Given the description of an element on the screen output the (x, y) to click on. 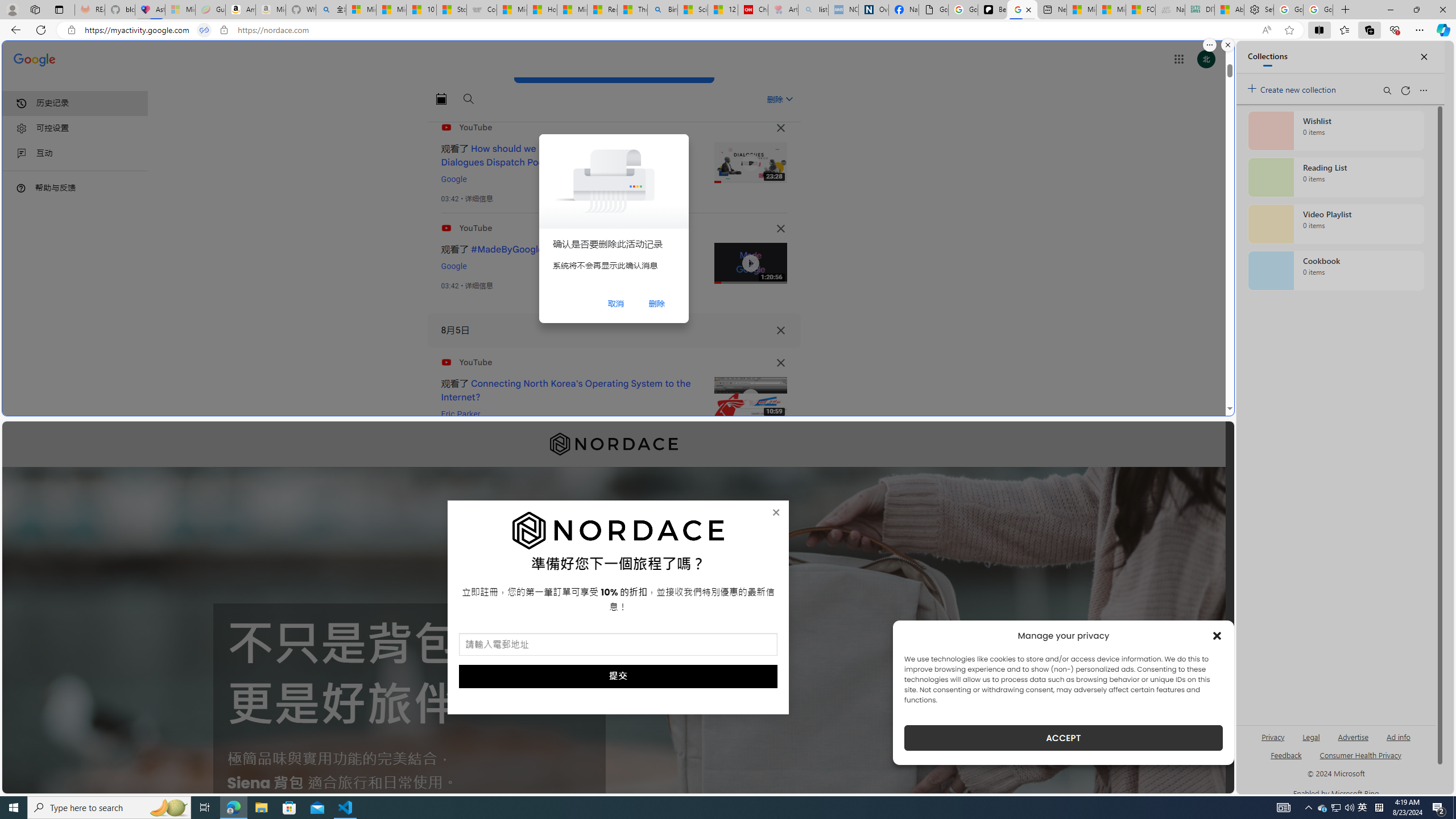
Eric Parker (460, 414)
Class: cmplz-close (1217, 635)
